Given the description of an element on the screen output the (x, y) to click on. 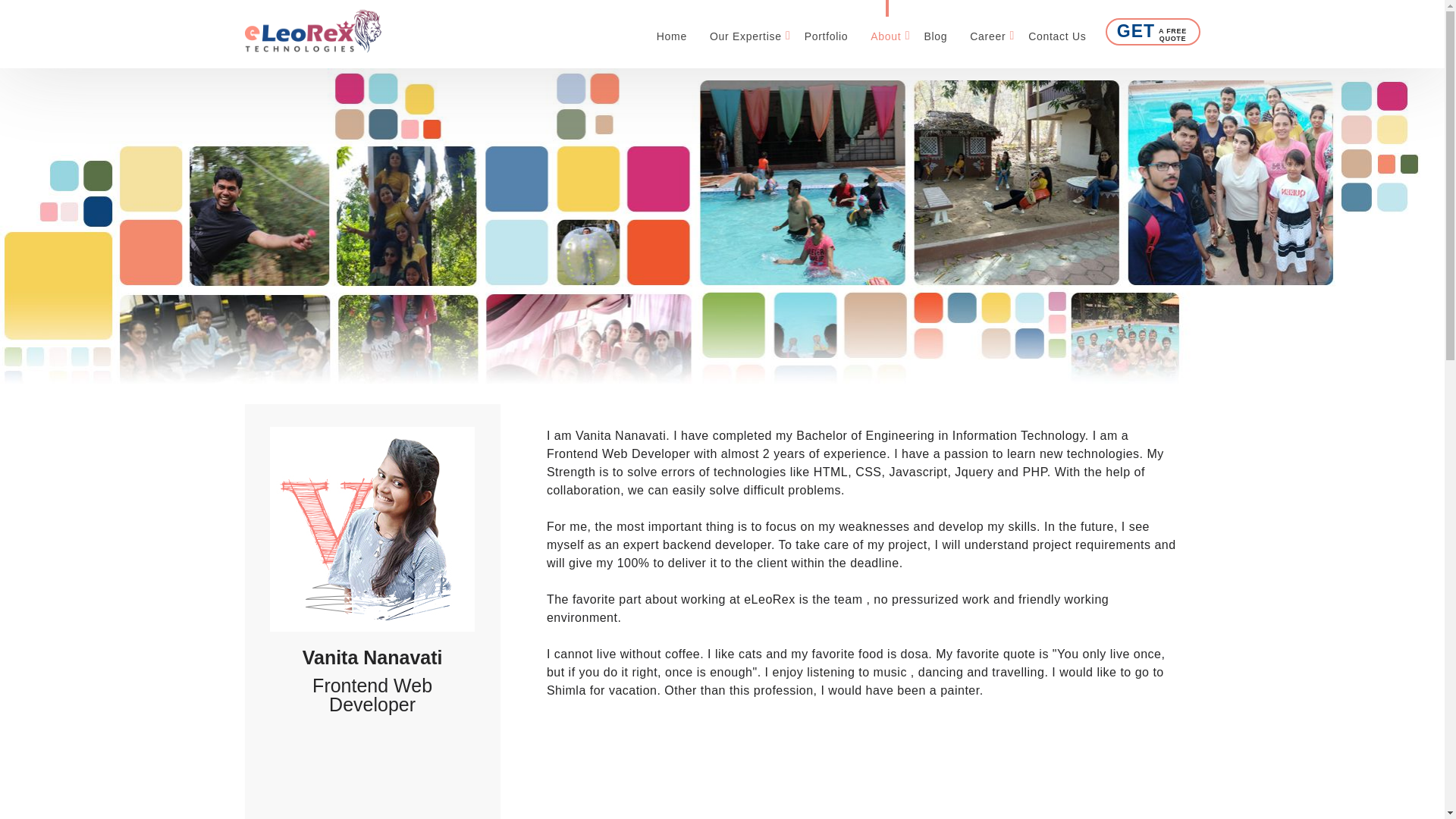
About (885, 31)
Blog (935, 31)
Career (987, 31)
Home (671, 31)
Contact Us (1056, 31)
Portfolio (826, 31)
Our Expertise (745, 31)
